Given the description of an element on the screen output the (x, y) to click on. 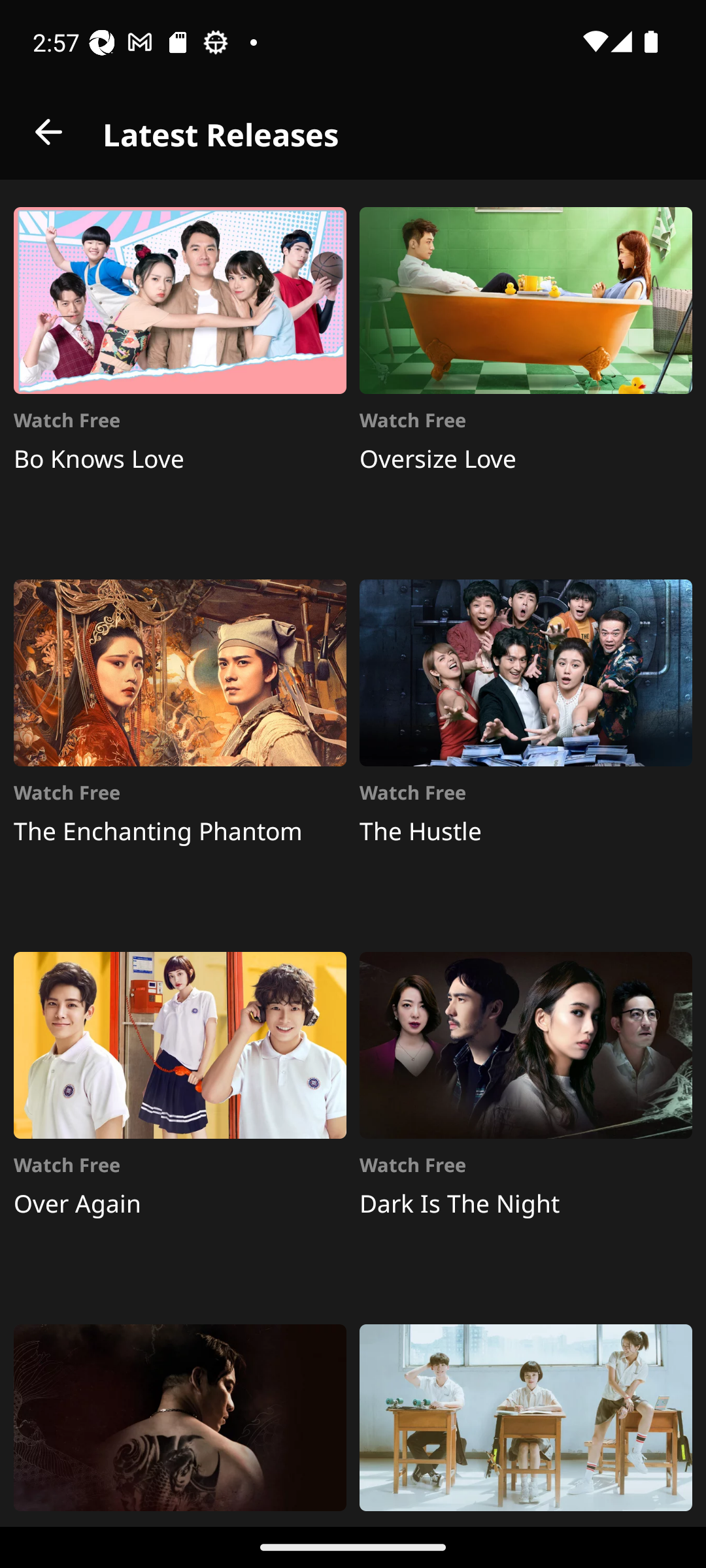
close_button (48, 131)
